Given the description of an element on the screen output the (x, y) to click on. 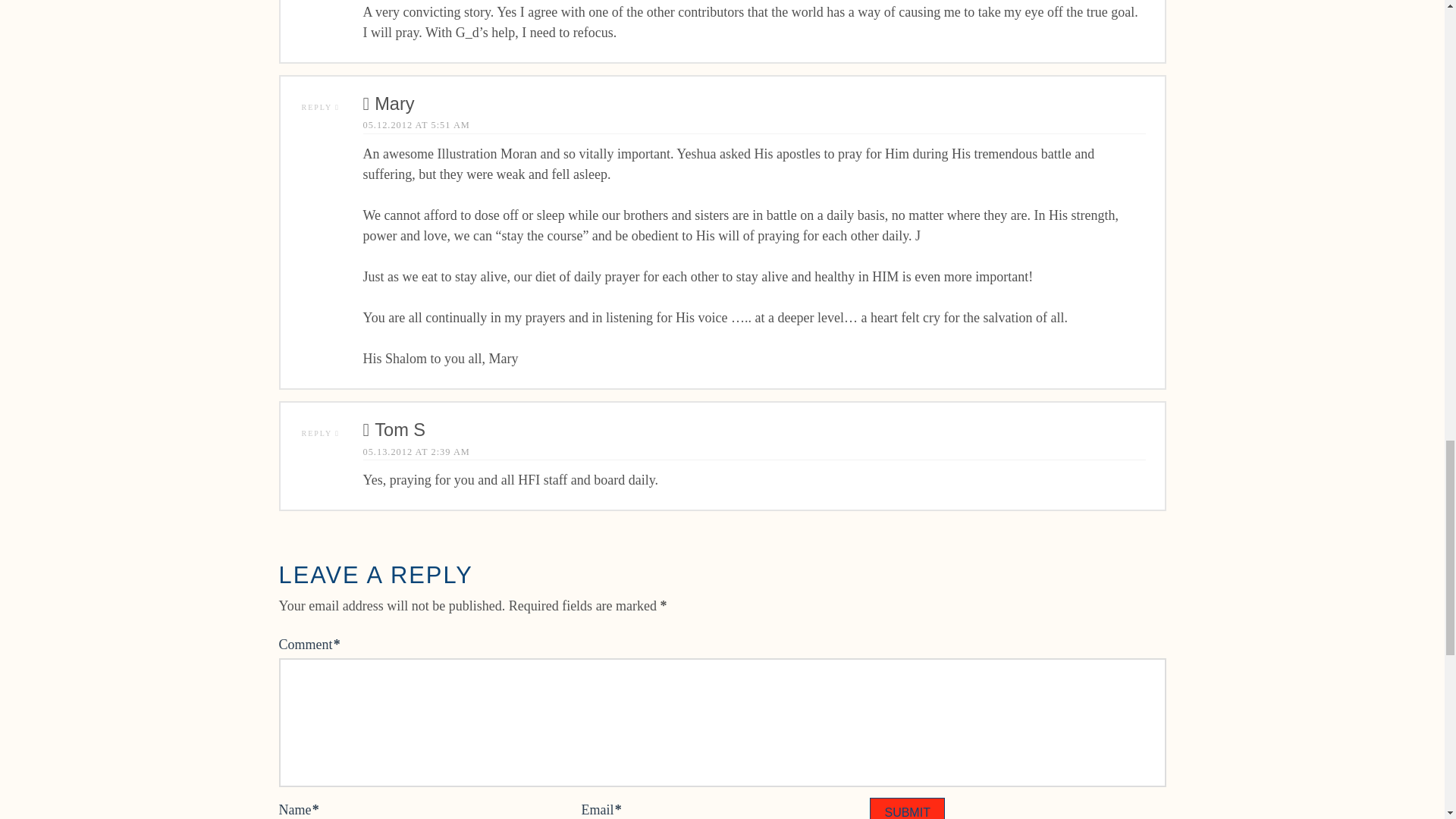
Submit (906, 808)
